Given the description of an element on the screen output the (x, y) to click on. 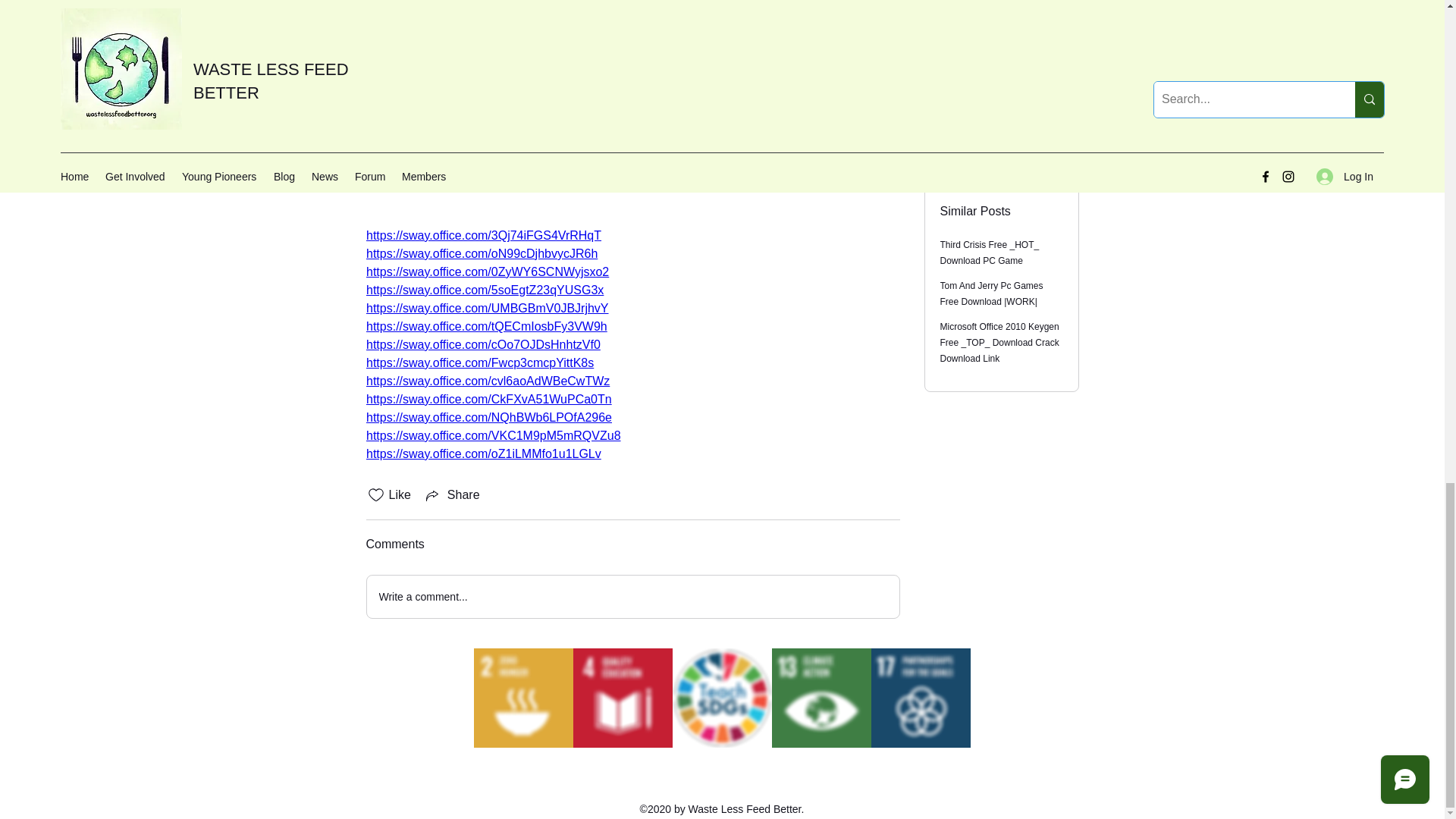
Write a comment... (632, 596)
Share (451, 495)
